Given the description of an element on the screen output the (x, y) to click on. 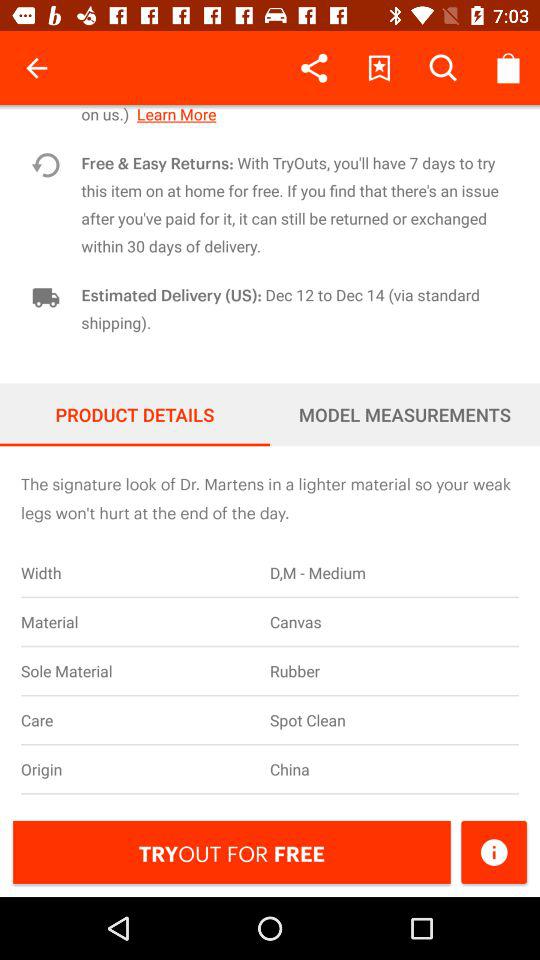
flip until the how tryouts work (294, 114)
